Given the description of an element on the screen output the (x, y) to click on. 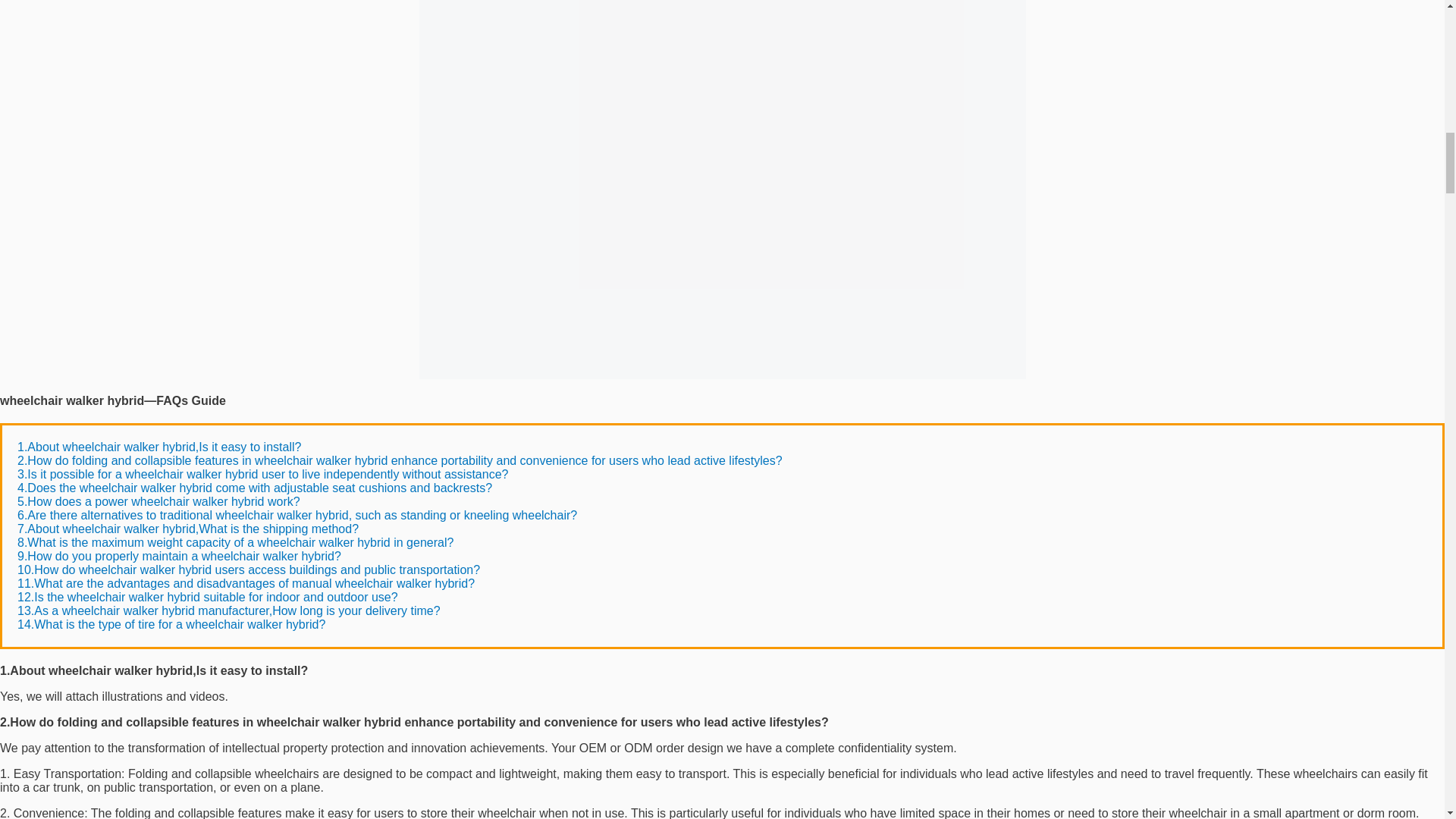
5.How does a power wheelchair walker hybrid work? (158, 501)
14.What is the type of tire for a wheelchair walker hybrid? (170, 624)
1.About wheelchair walker hybrid,Is it easy to install? (159, 446)
9.How do you properly maintain a wheelchair walker hybrid? (178, 555)
